Given the description of an element on the screen output the (x, y) to click on. 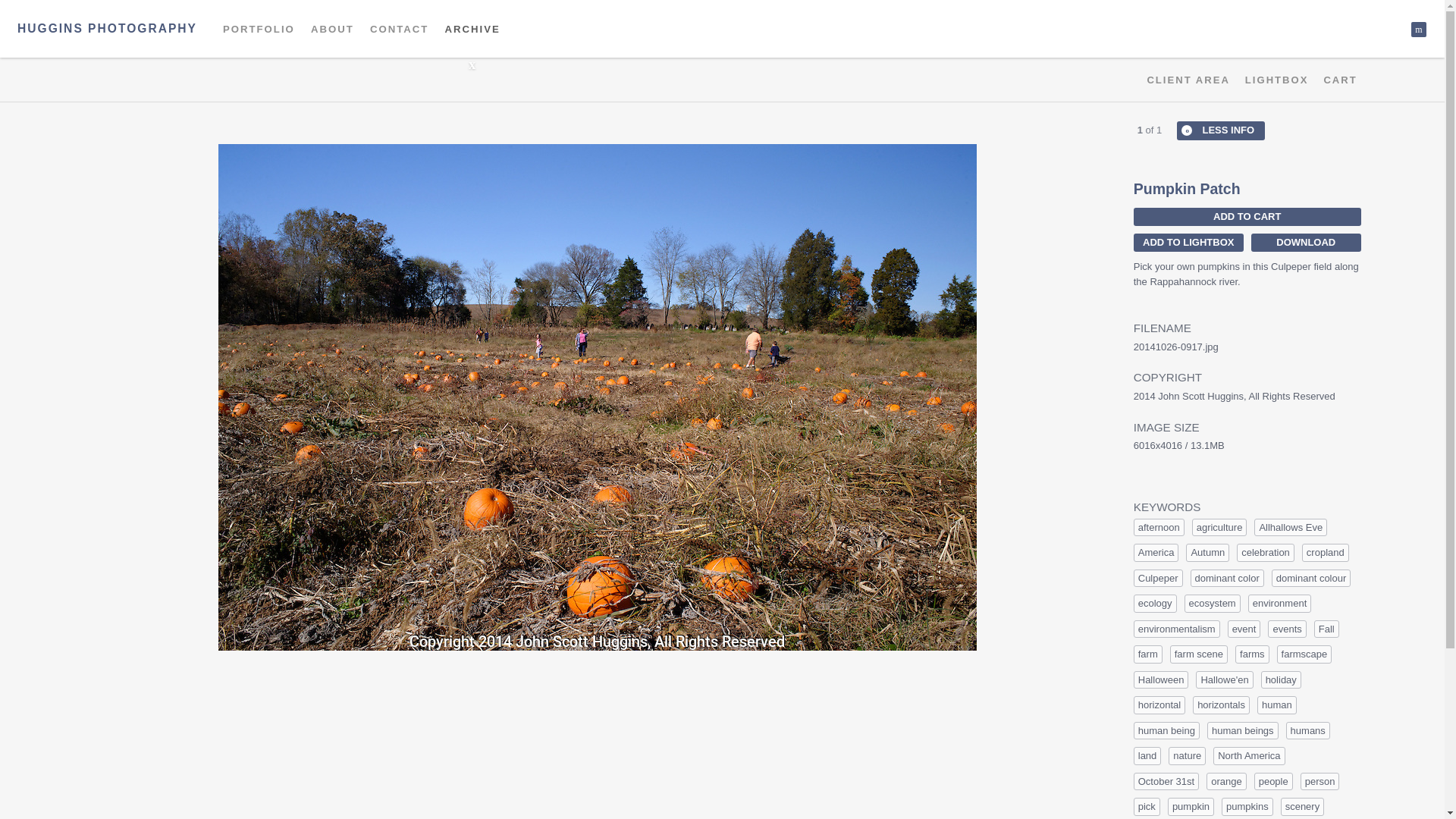
Add to Cart (1247, 217)
Fall (1326, 628)
Autumn (1207, 552)
cropland (1325, 552)
Info (1220, 130)
America (1156, 552)
CLIENT AREA (1187, 80)
DOWNLOAD (1305, 242)
farm scene (1198, 654)
afternoon (1159, 527)
environmentalism (1177, 628)
ARCHIVE (472, 28)
holiday (1280, 679)
farms (1251, 654)
dominant colour (1311, 578)
